Given the description of an element on the screen output the (x, y) to click on. 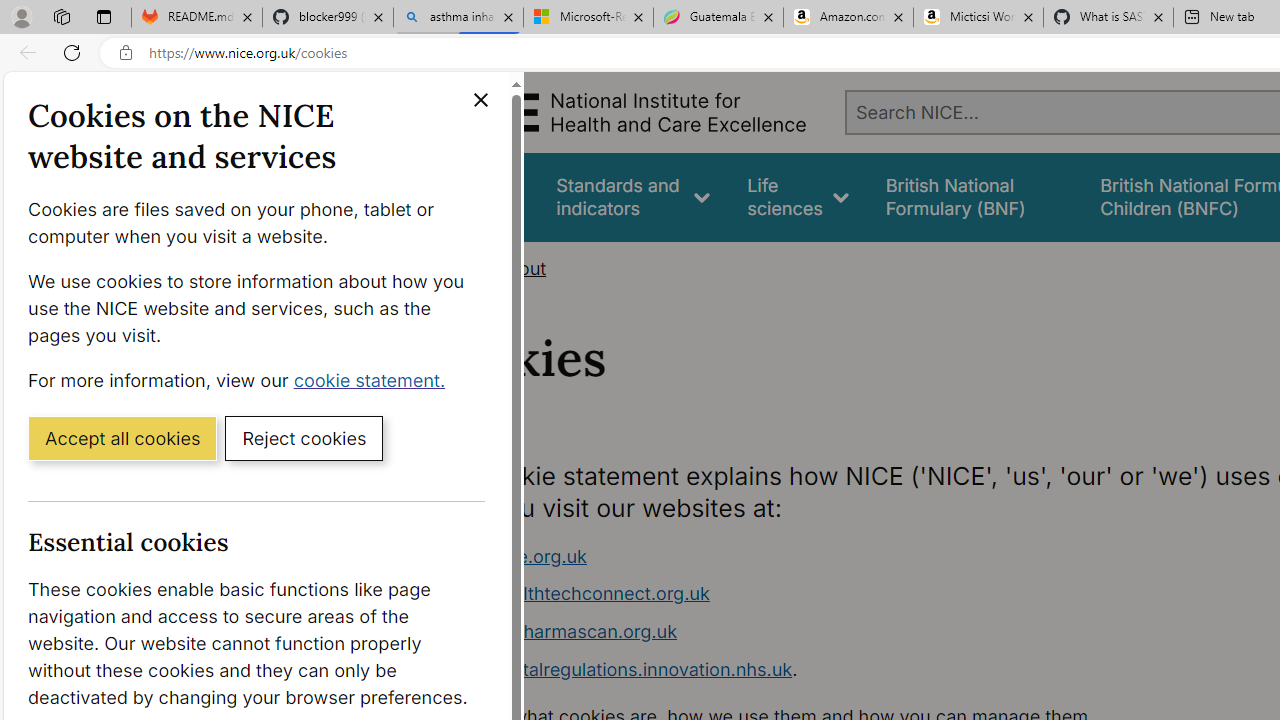
www.nice.org.uk (514, 556)
www.nice.org.uk (818, 556)
www.digitalregulations.innovation.nhs.uk (617, 668)
Reject cookies (304, 437)
www.ukpharmascan.org.uk (818, 632)
